Given the description of an element on the screen output the (x, y) to click on. 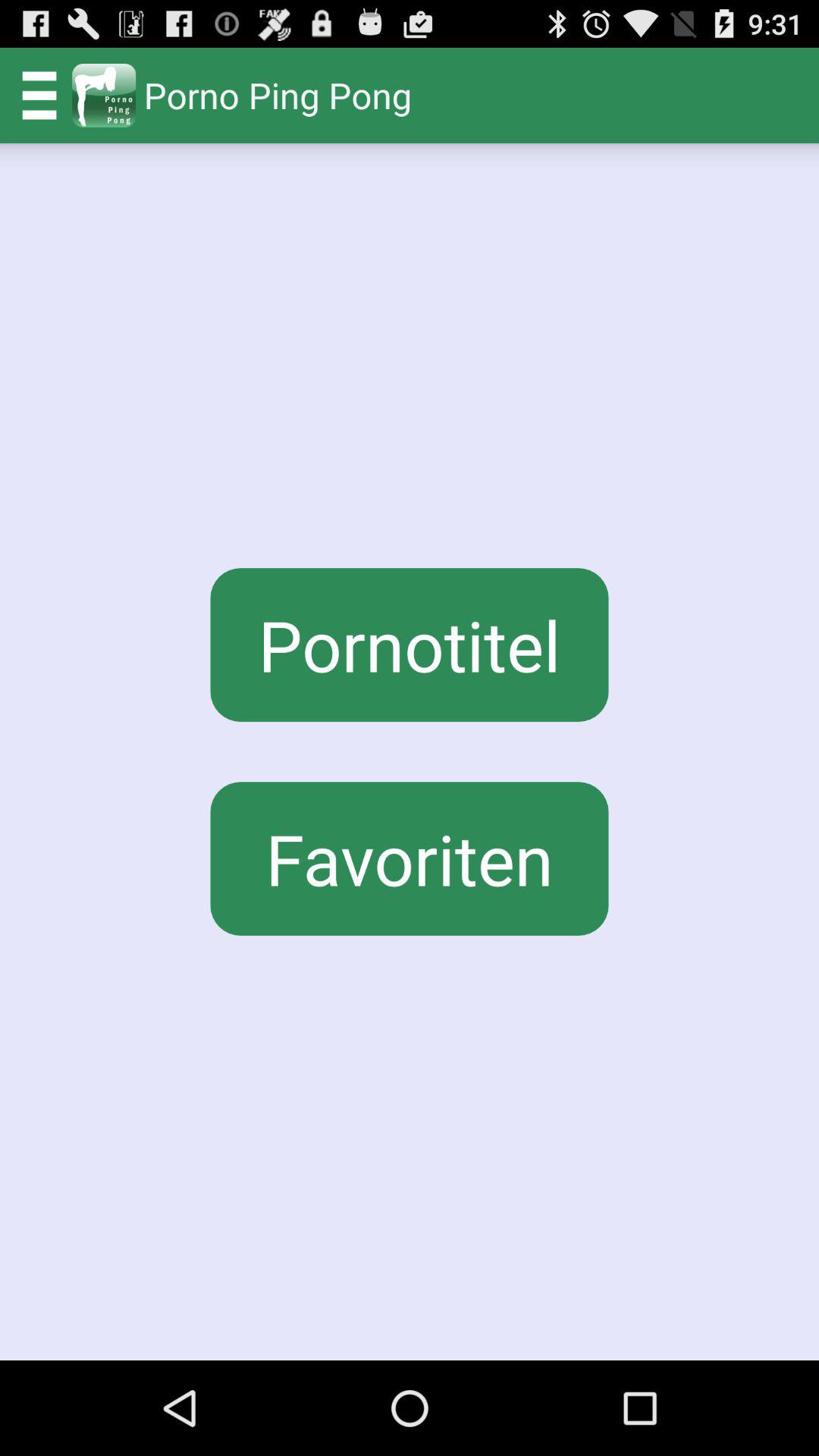
press the favoriten (409, 858)
